Given the description of an element on the screen output the (x, y) to click on. 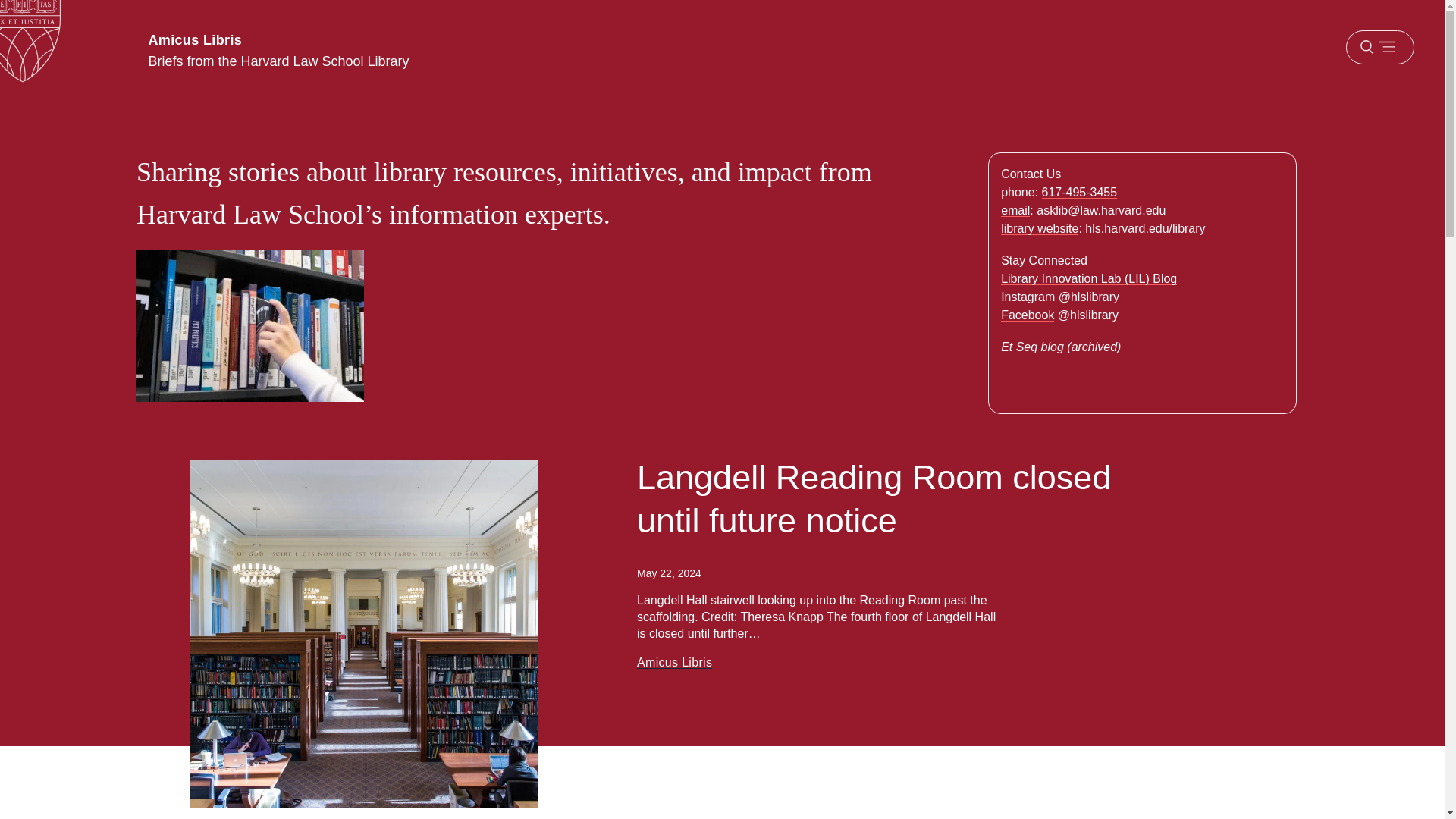
Open menu (1379, 47)
